Given the description of an element on the screen output the (x, y) to click on. 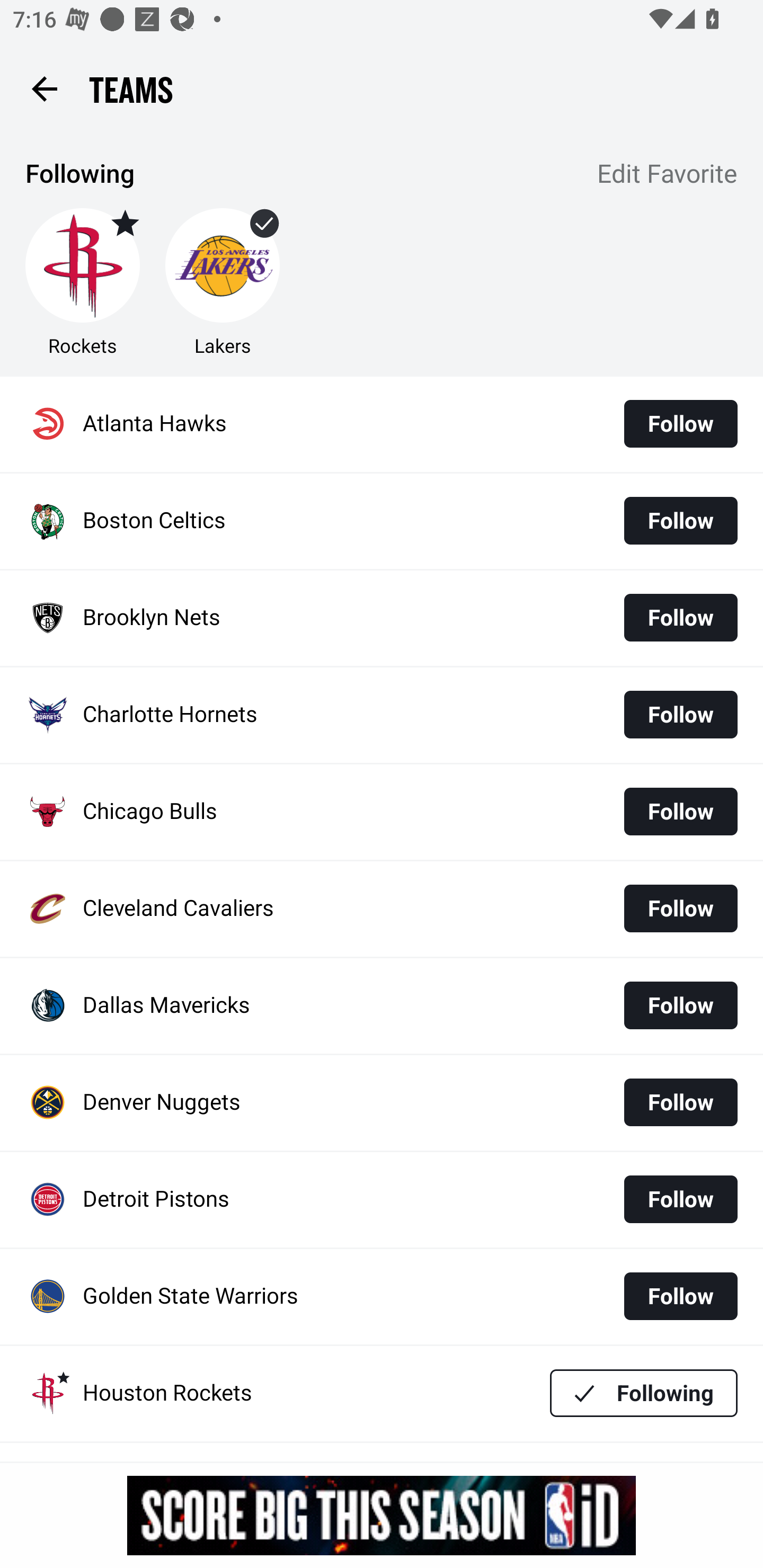
Back button (44, 88)
Edit Favorite (667, 175)
Atlanta Hawks Follow (381, 423)
Follow (680, 423)
Boston Celtics Follow (381, 521)
Follow (680, 520)
Brooklyn Nets Follow (381, 618)
Follow (680, 617)
Charlotte Hornets Follow (381, 714)
Follow (680, 713)
Chicago Bulls Follow (381, 812)
Follow (680, 811)
Cleveland Cavaliers Follow (381, 908)
Follow (680, 908)
Dallas Mavericks Follow (381, 1005)
Follow (680, 1005)
Denver Nuggets Follow (381, 1102)
Follow (680, 1101)
Detroit Pistons Follow (381, 1200)
Follow (680, 1199)
Golden State Warriors Follow (381, 1296)
Follow (680, 1295)
Houston Rockets Following (381, 1392)
Following (643, 1392)
g5nqqygr7owph (381, 1515)
